Given the description of an element on the screen output the (x, y) to click on. 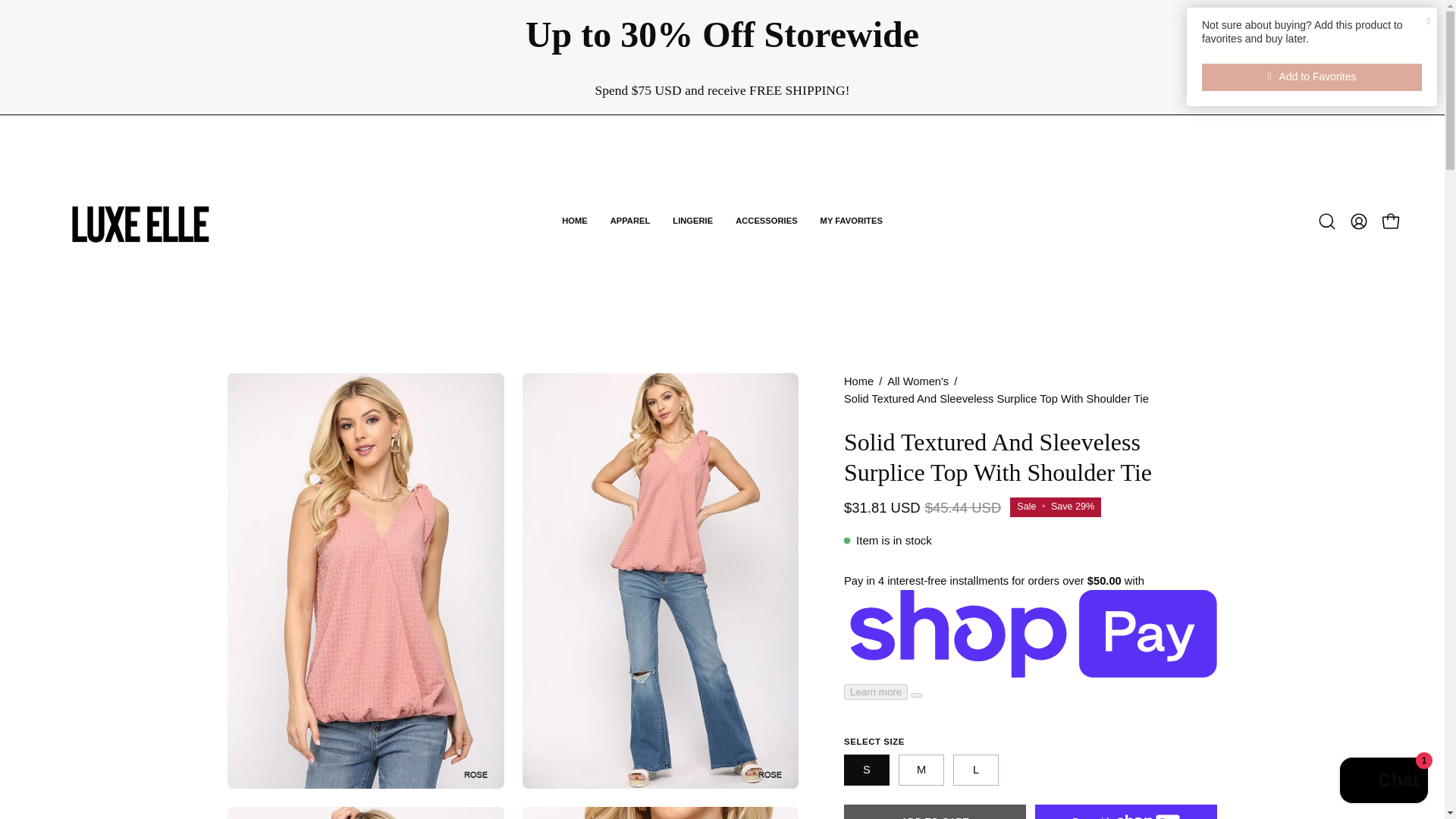
Go back to Home page (858, 381)
Open search bar (1326, 221)
